Given the description of an element on the screen output the (x, y) to click on. 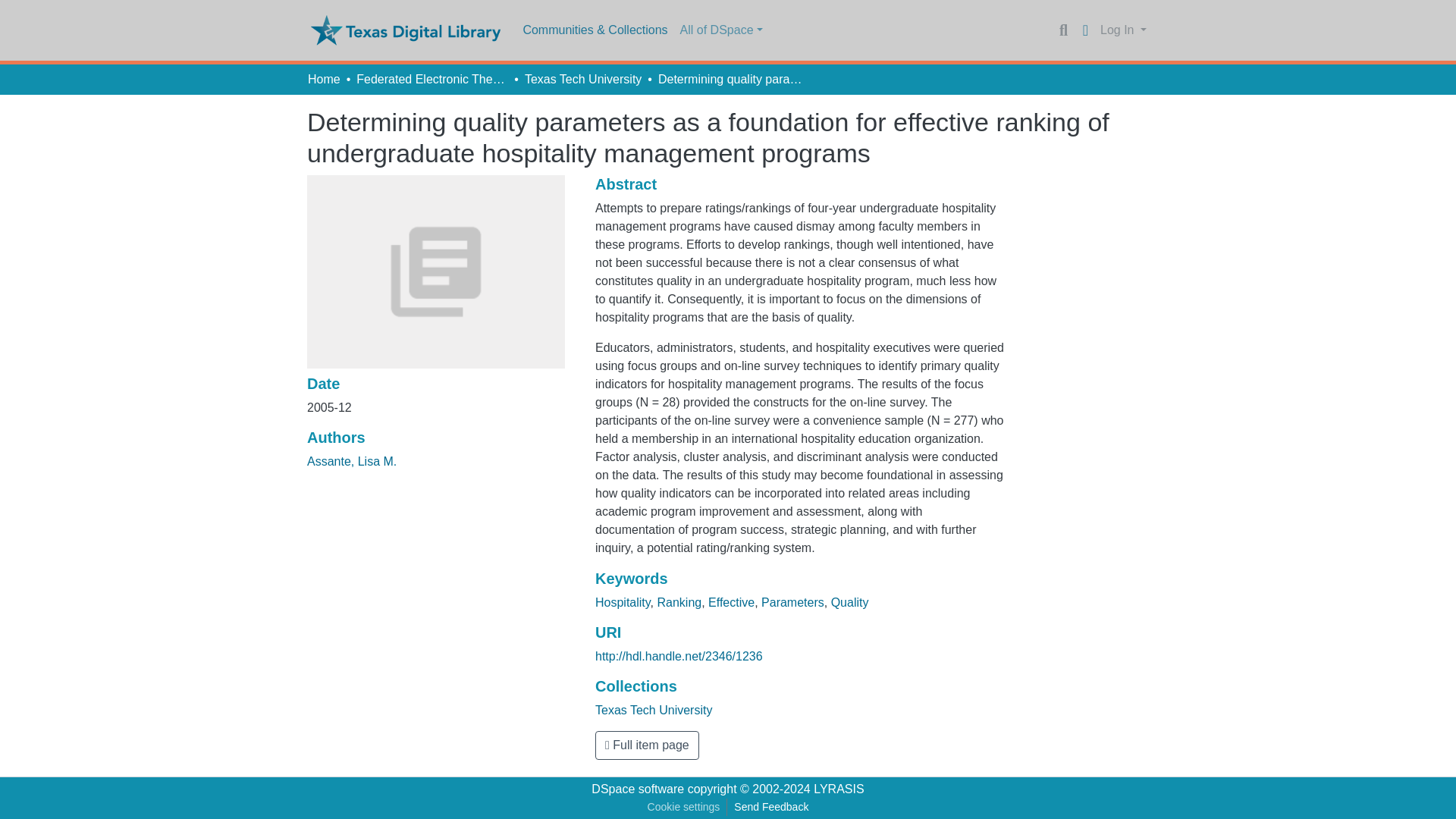
LYRASIS (838, 788)
Texas Tech University (583, 79)
Full item page (646, 745)
Quality (850, 602)
All of DSpace (721, 30)
Send Feedback (770, 806)
DSpace software (637, 788)
Language switch (1084, 30)
Assante, Lisa M. (351, 461)
Ranking (678, 602)
